Given the description of an element on the screen output the (x, y) to click on. 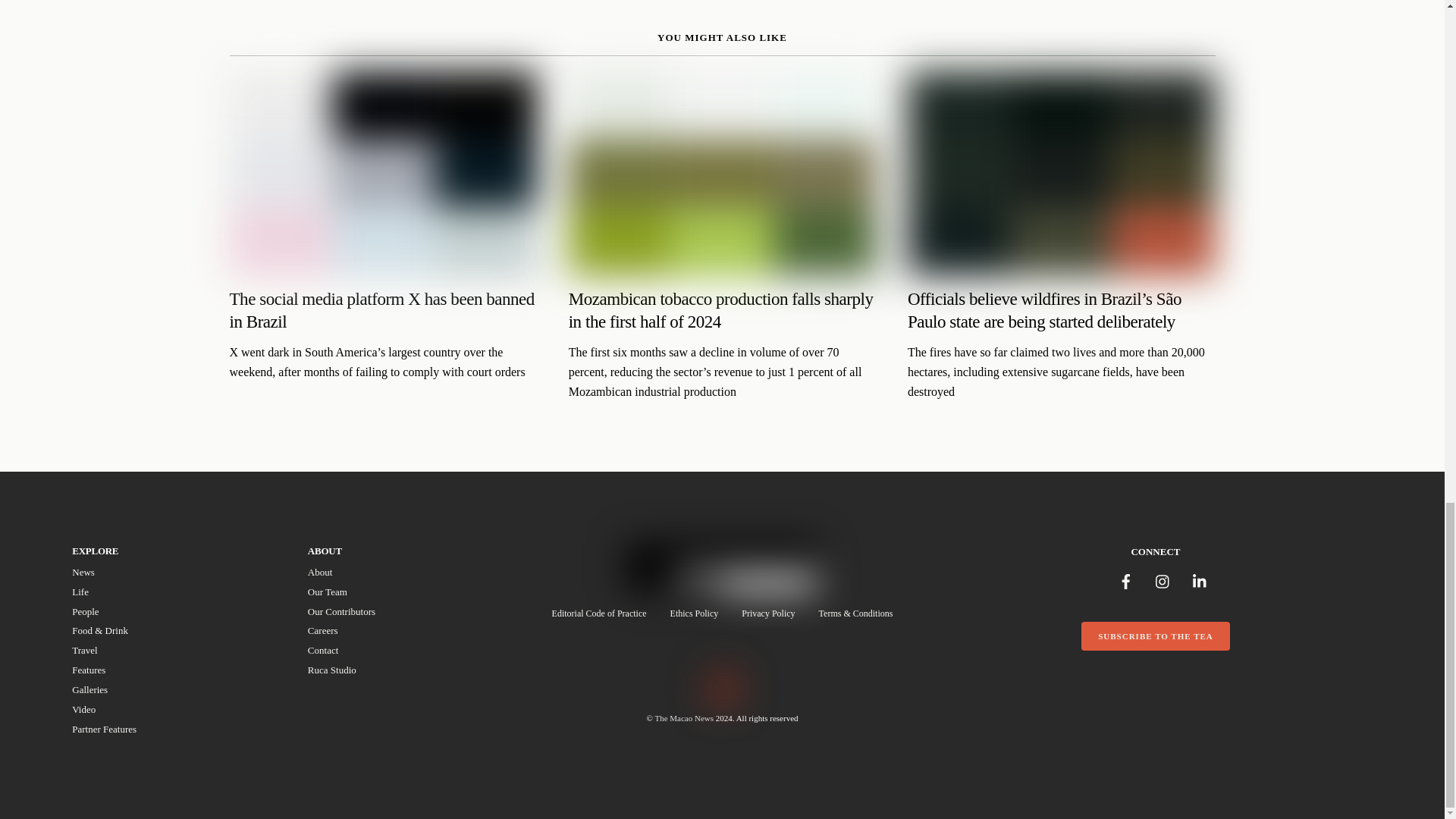
The social media platform X has been banned in Brazil (406, 624)
